Given the description of an element on the screen output the (x, y) to click on. 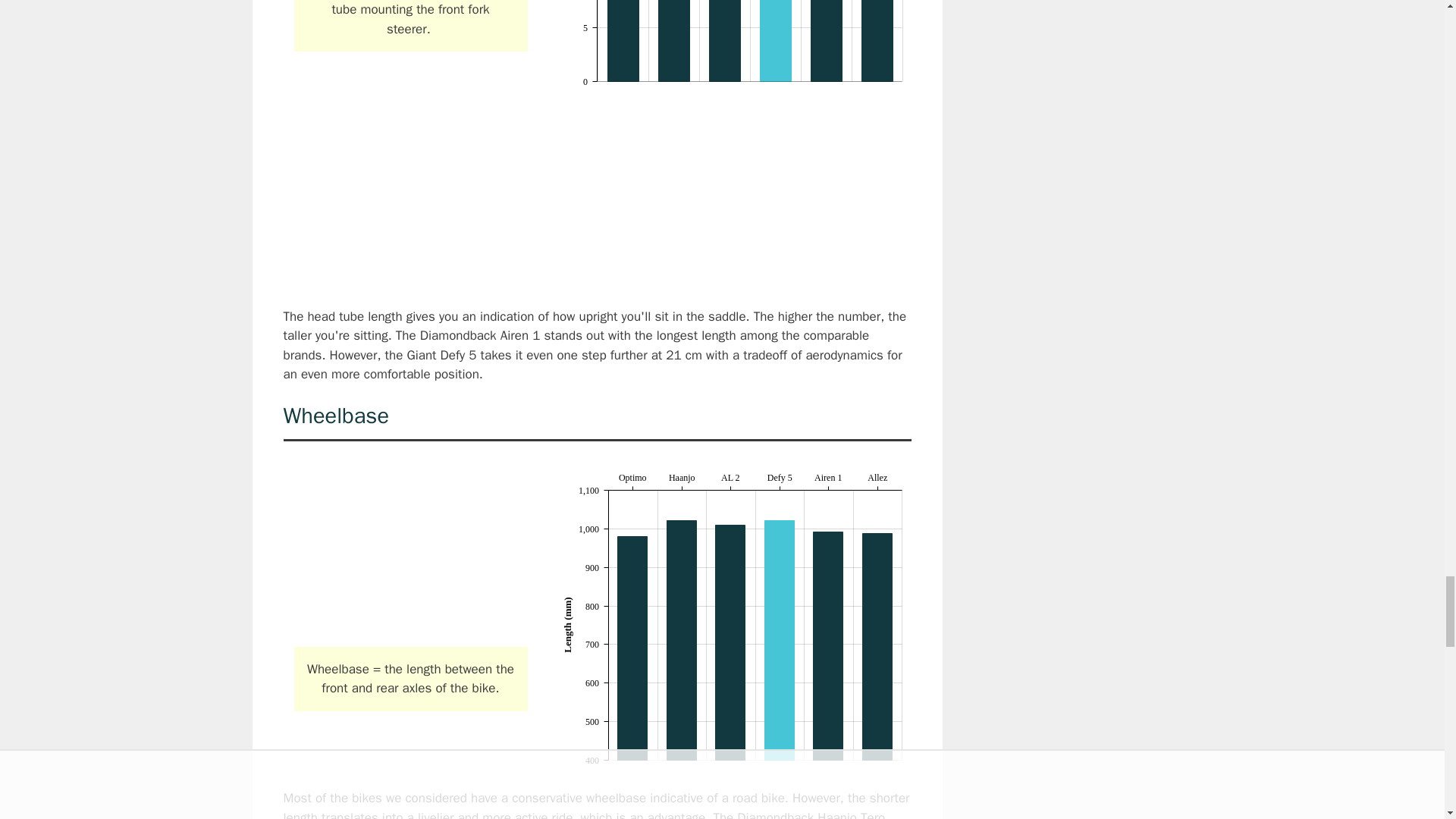
Wheelbase (410, 553)
